Given the description of an element on the screen output the (x, y) to click on. 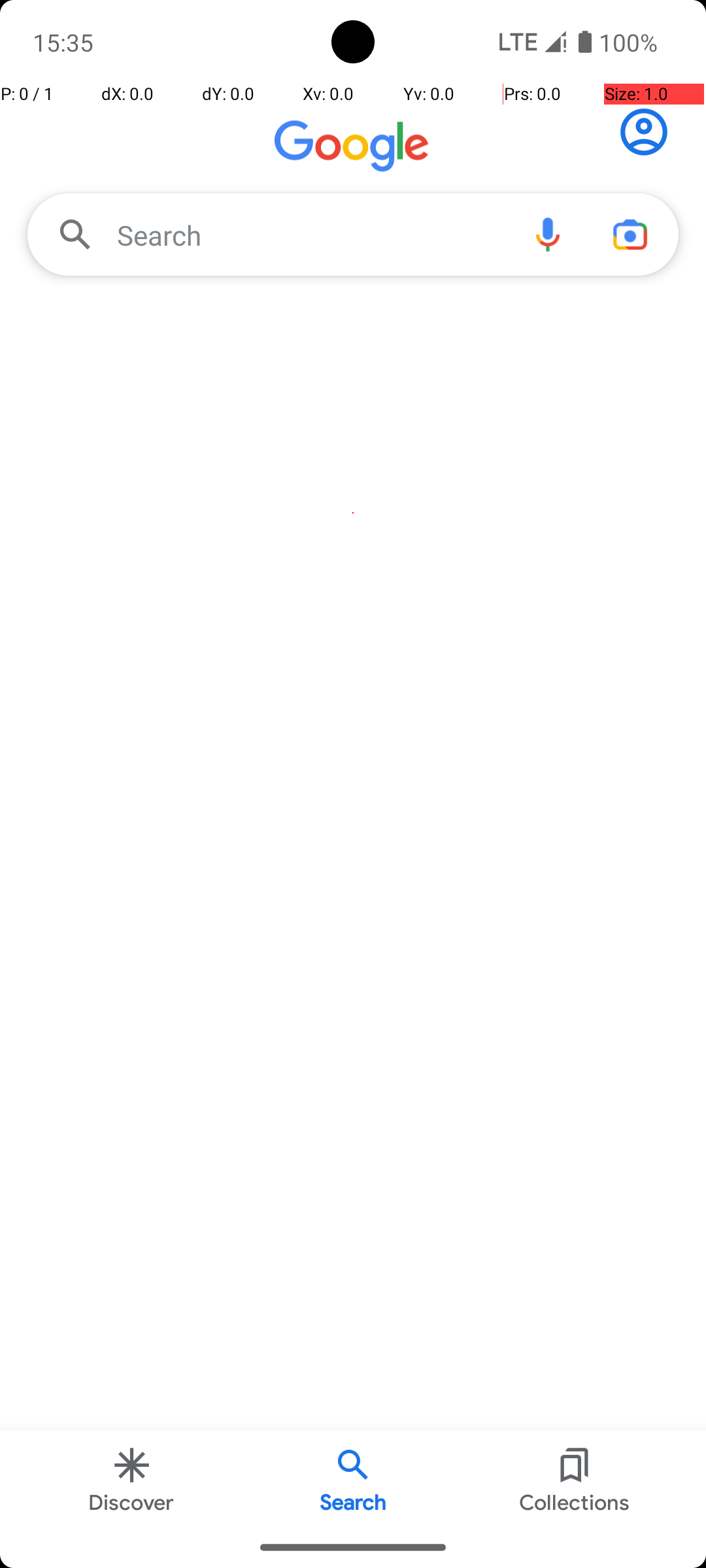
Go to Discover Element type: android.widget.ImageView (352, 148)
Sign in Element type: android.widget.FrameLayout (650, 131)
Collections Button Element type: android.widget.FrameLayout (574, 1478)
